Given the description of an element on the screen output the (x, y) to click on. 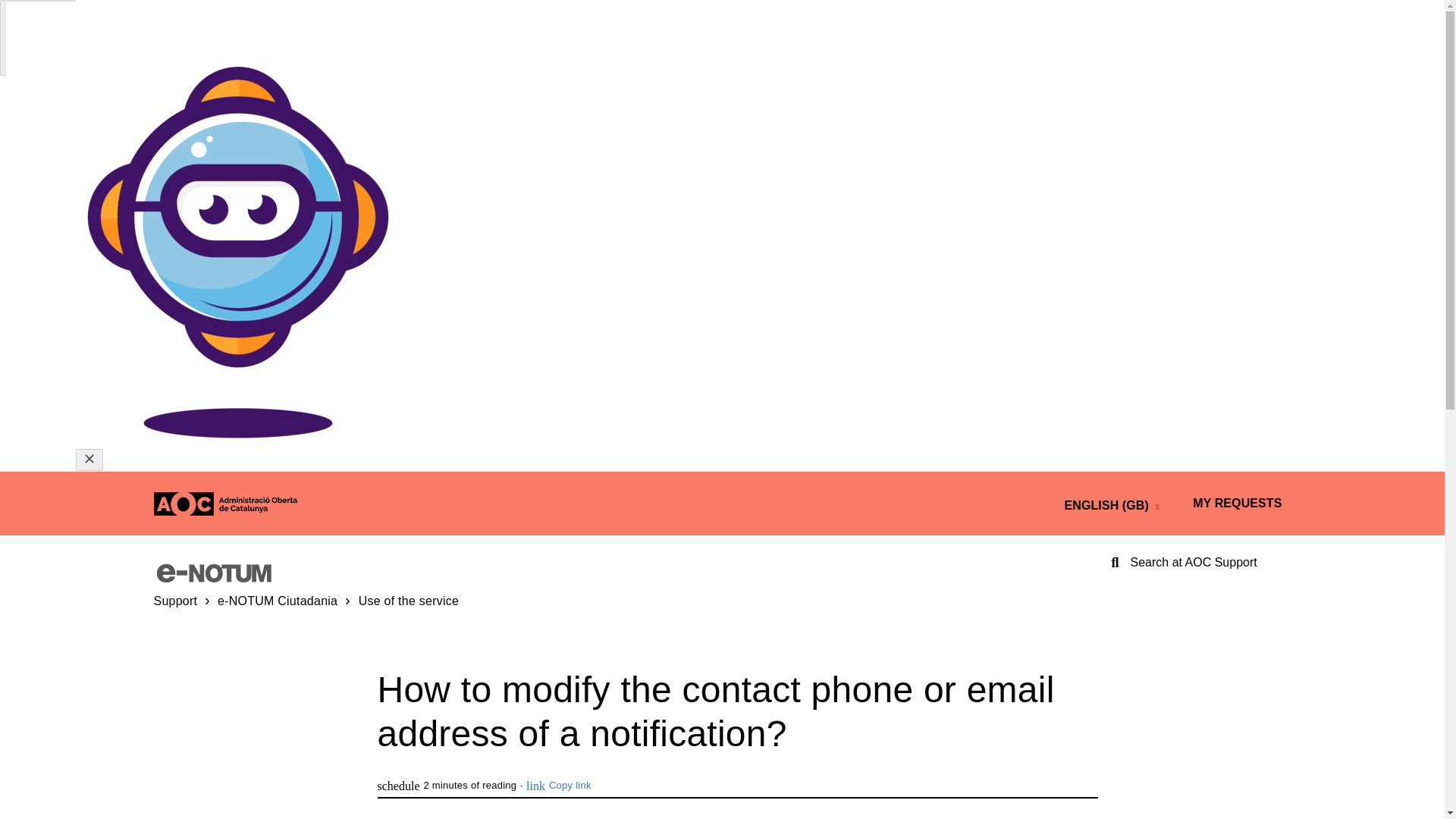
e-NOTUM Ciutadania (276, 601)
MY REQUESTS (1236, 502)
Opens a dialogue (1236, 502)
e-NOTUM Ciutadania (276, 600)
Home (213, 569)
Use of the service (409, 600)
Use of the service (399, 599)
Support (174, 600)
linkCopy link (558, 785)
SUPORT (174, 601)
